Given the description of an element on the screen output the (x, y) to click on. 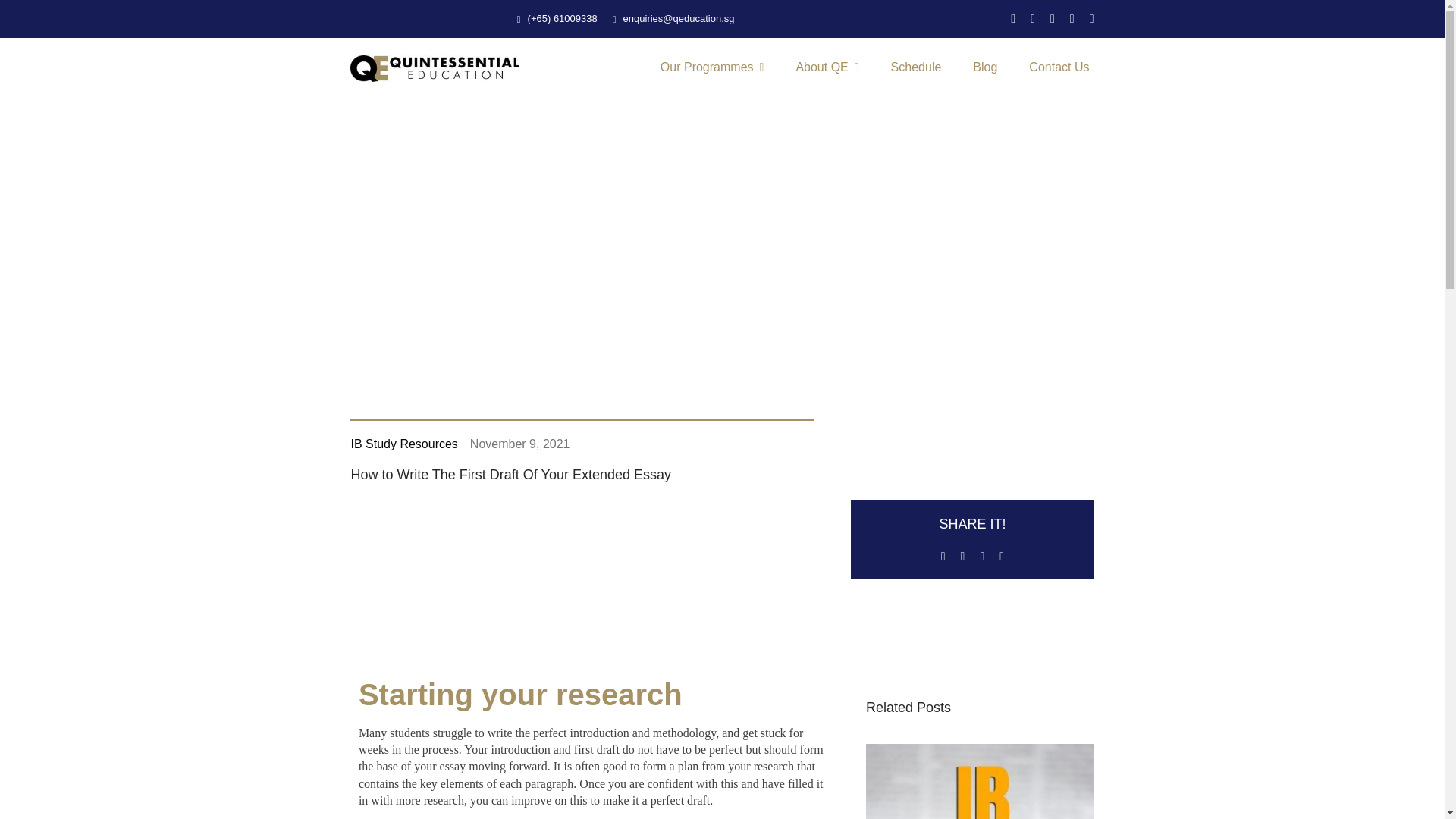
Contact Us (1059, 68)
IB Study Resources (403, 443)
About QE (826, 68)
Our Programmes (712, 68)
Schedule (916, 68)
IB Study Resources (403, 443)
